Given the description of an element on the screen output the (x, y) to click on. 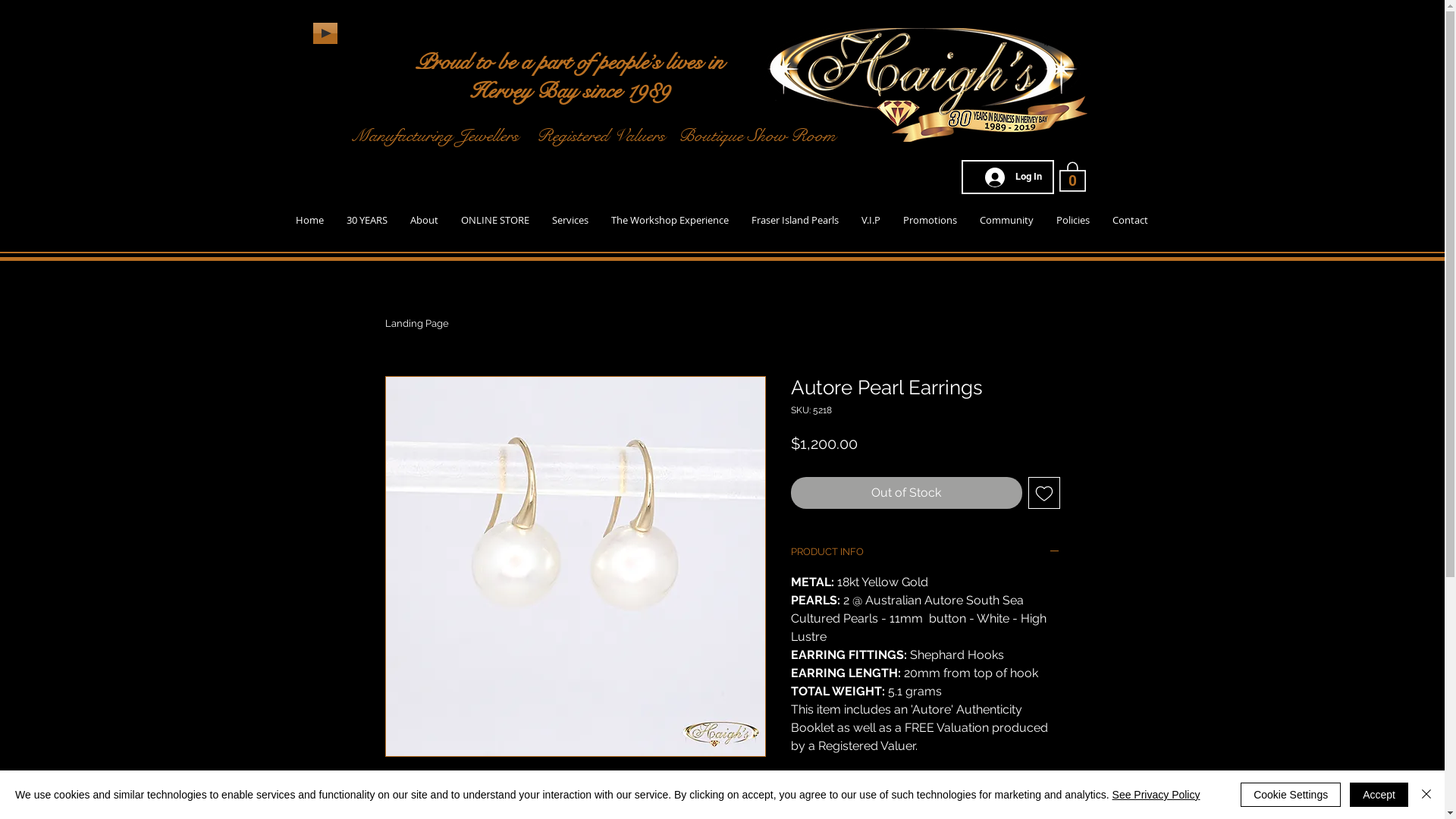
Accept Element type: text (1378, 794)
Out of Stock Element type: text (905, 492)
0 Element type: text (1071, 175)
See Privacy Policy Element type: text (1156, 794)
Cookie Settings Element type: text (1290, 794)
V.I.P Element type: text (870, 219)
DISCLAIMER Element type: text (924, 799)
PRODUCT INFO Element type: text (924, 552)
Fraser Island Pearls Element type: text (795, 219)
Log In Element type: text (1012, 176)
Services Element type: text (569, 219)
ONLINE STORE Element type: text (493, 219)
Home Element type: text (308, 219)
30 YEARS Element type: text (366, 219)
Haigh's - Boutique Jewellery and Valuer, Hervey Bay Element type: hover (927, 84)
Contact Element type: text (1130, 219)
Promotions Element type: text (929, 219)
The Workshop Experience Element type: text (669, 219)
Landing Page Element type: text (416, 323)
